Given the description of an element on the screen output the (x, y) to click on. 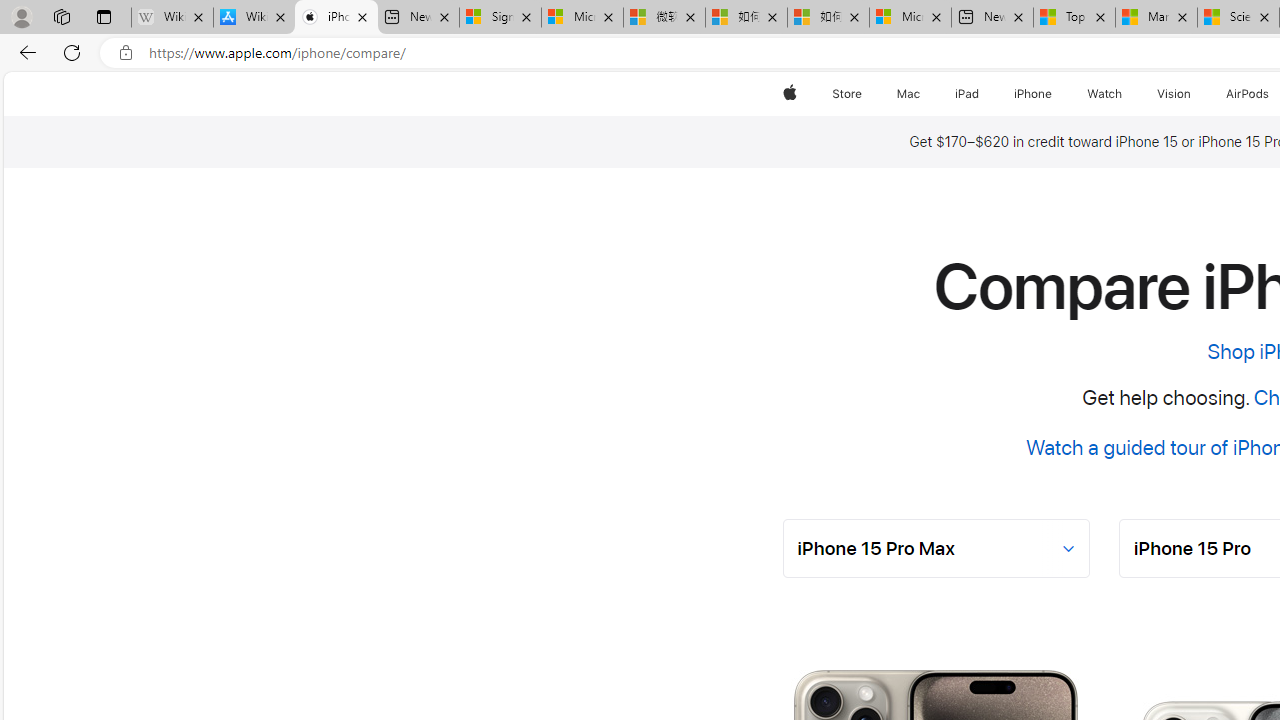
Store (846, 93)
Microsoft account | Account Checkup (910, 17)
Vision (1174, 93)
Mac (908, 93)
Mac menu (922, 93)
Store (846, 93)
iPhone - Compare Models - Apple (336, 17)
Store menu (864, 93)
